Given the description of an element on the screen output the (x, y) to click on. 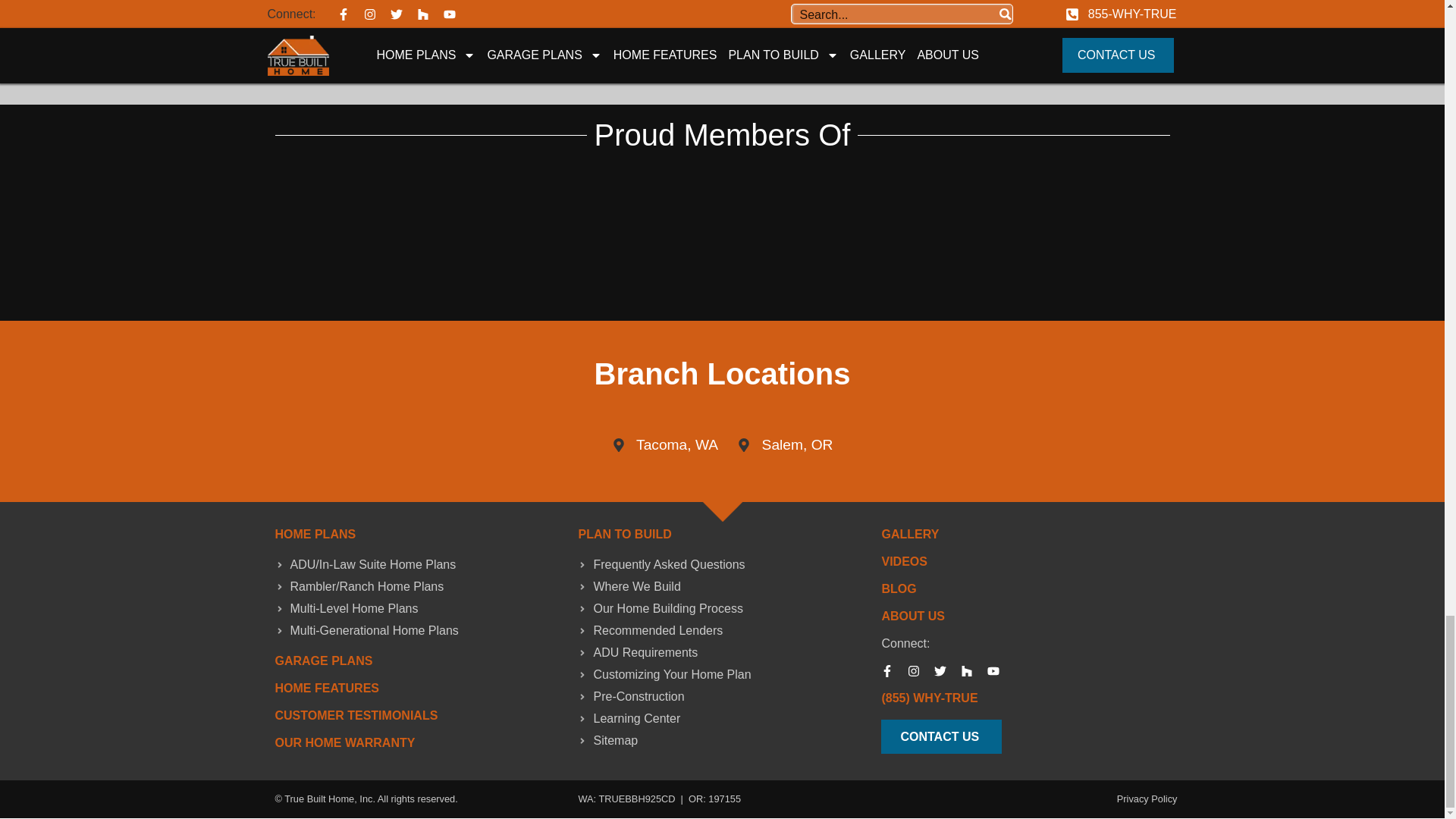
nahb-logo-white.png (494, 201)
KBA-Logo-Wht.png (949, 273)
MBAlogo-white.png (493, 273)
